Given the description of an element on the screen output the (x, y) to click on. 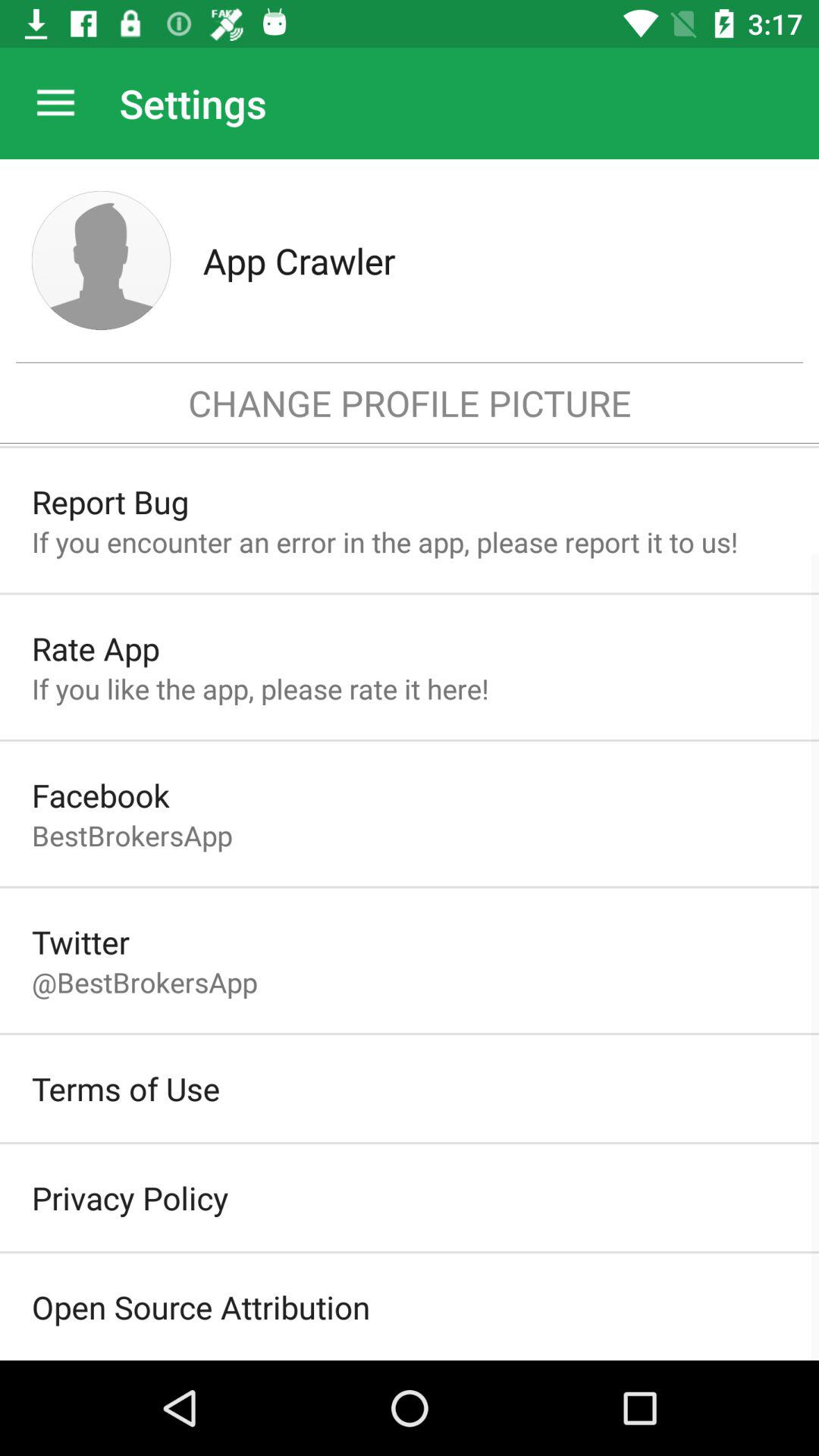
flip to the app crawler icon (495, 260)
